Given the description of an element on the screen output the (x, y) to click on. 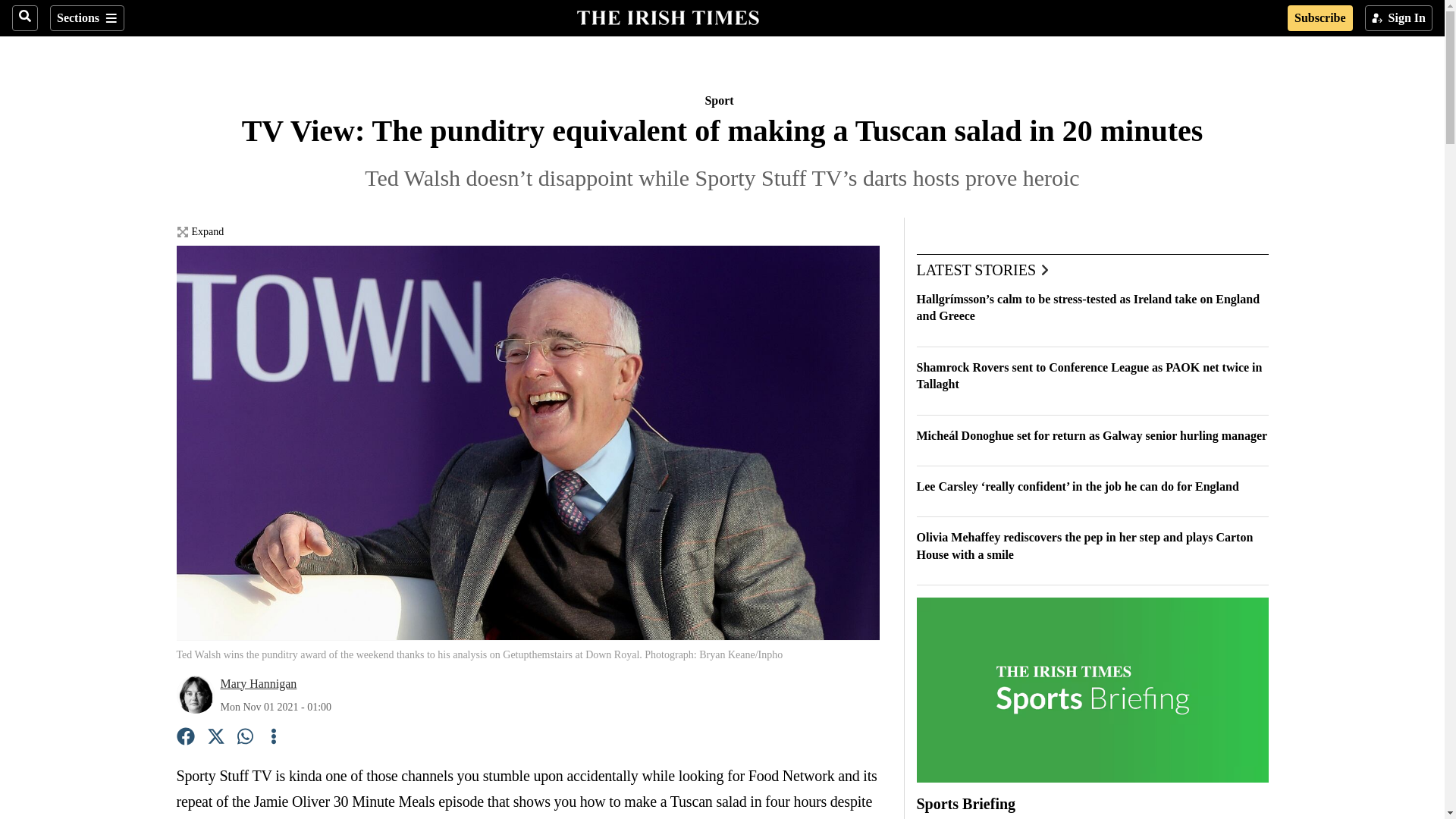
The Irish Times (667, 16)
Sign In (1398, 17)
Subscribe (1319, 17)
Sections (86, 17)
